Given the description of an element on the screen output the (x, y) to click on. 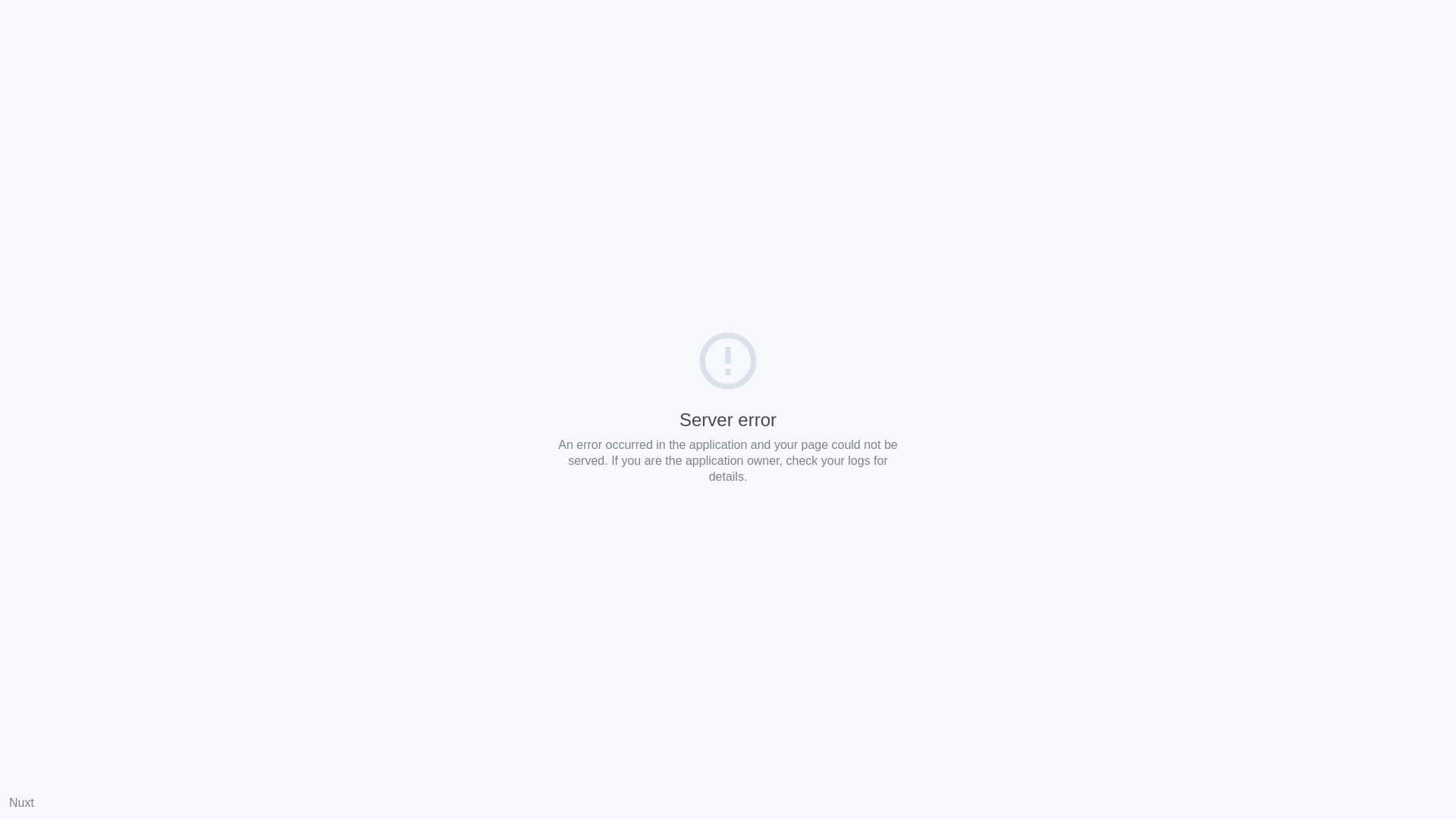
Nuxt Element type: text (21, 802)
